Given the description of an element on the screen output the (x, y) to click on. 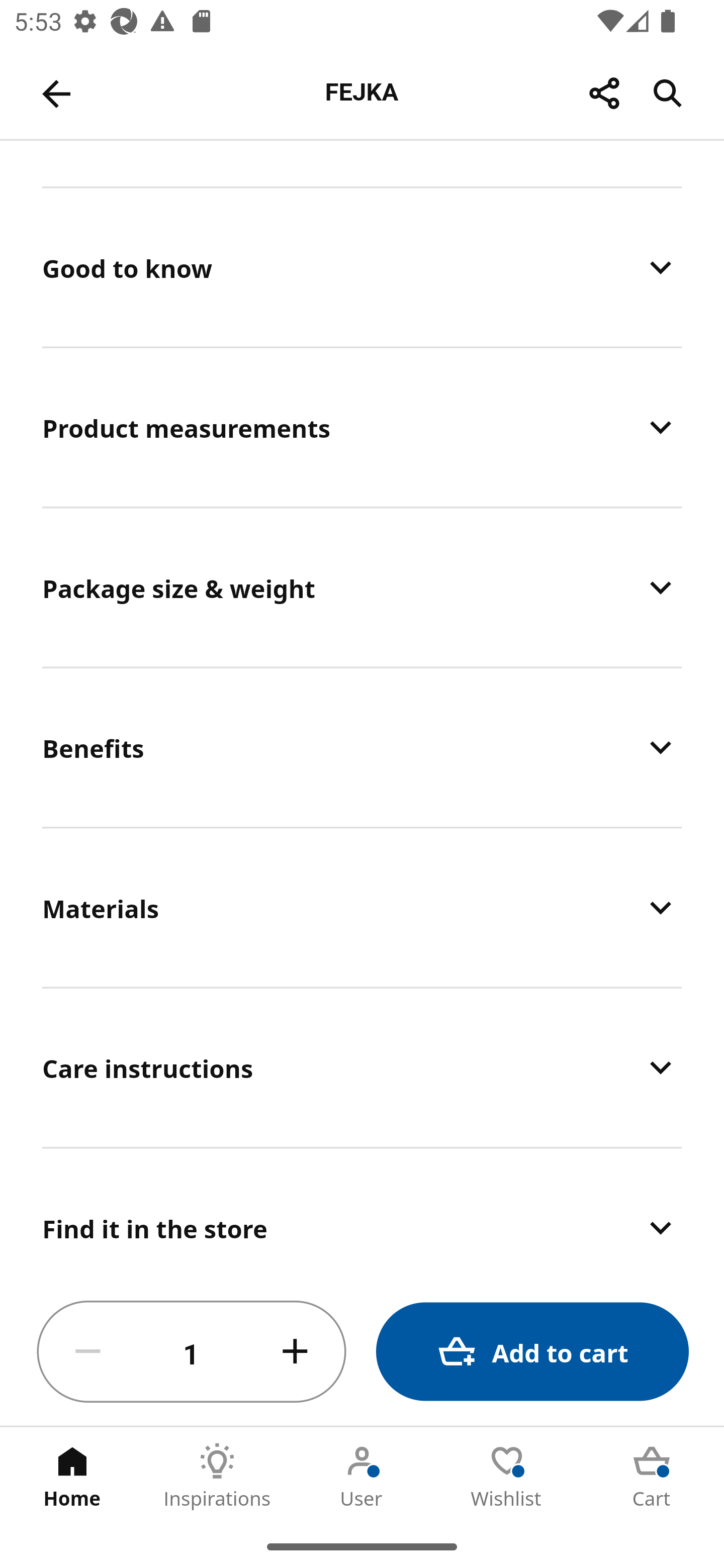
Good to know (361, 266)
Product measurements (361, 426)
Package size & weight (361, 586)
Benefits (361, 746)
Materials (361, 906)
Care instructions (361, 1066)
Find it in the store (361, 1213)
Add to cart (531, 1352)
1 (191, 1352)
Home
Tab 1 of 5 (72, 1476)
Inspirations
Tab 2 of 5 (216, 1476)
User
Tab 3 of 5 (361, 1476)
Wishlist
Tab 4 of 5 (506, 1476)
Cart
Tab 5 of 5 (651, 1476)
